Given the description of an element on the screen output the (x, y) to click on. 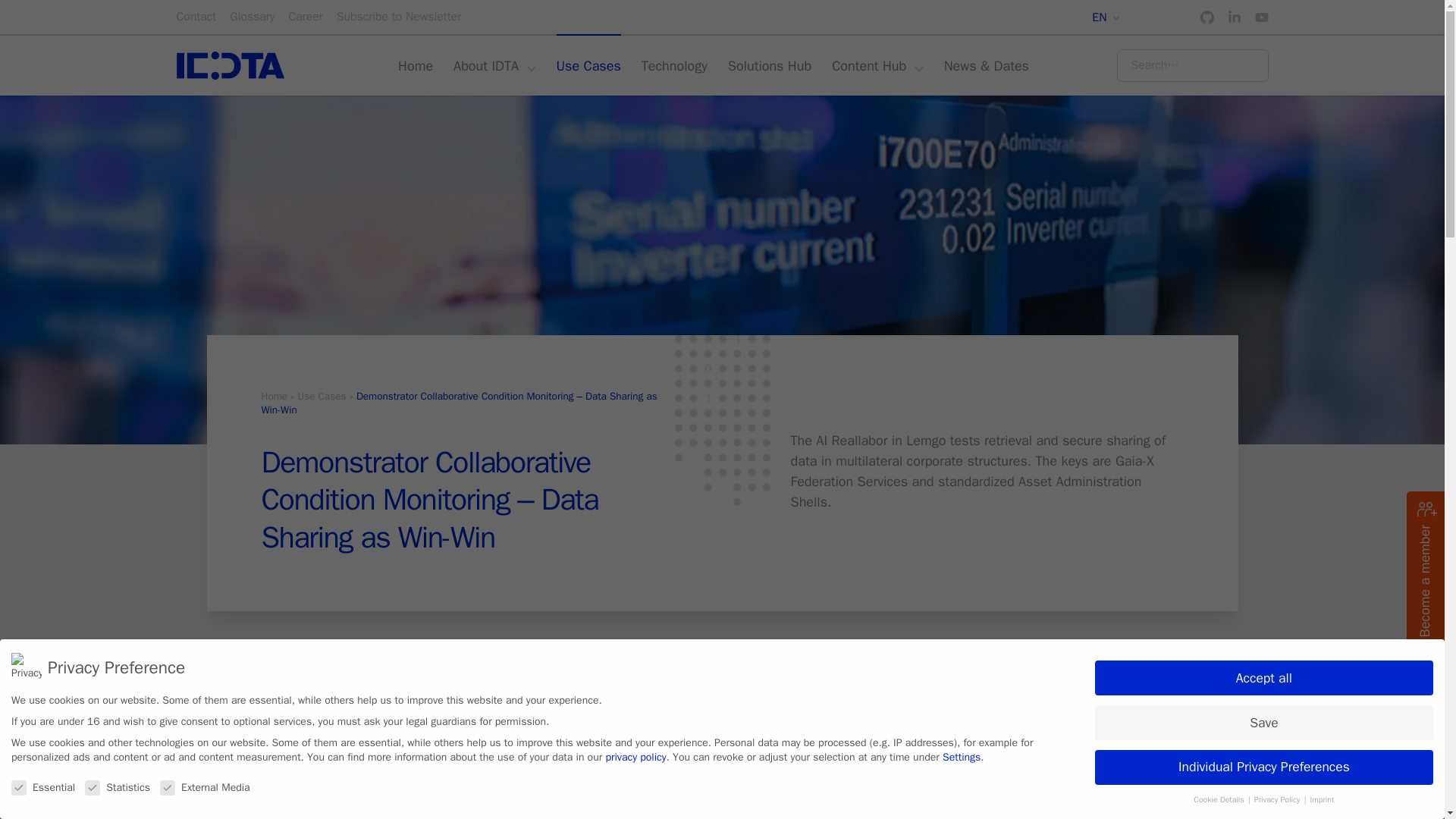
Visit us on Linkedin (1233, 17)
Use Cases (588, 64)
Glossary (252, 17)
Technology (674, 64)
Subscribe to Newsletter (398, 17)
Visit us on YouTube (1260, 17)
YouTube video player (448, 769)
About IDTA (493, 64)
Content Hub (877, 64)
Career (304, 17)
Click here to go back to frontpage (232, 64)
Click here to go back to frontpage (232, 64)
Solutions Hub (769, 64)
EN (1105, 18)
Visit us on GitHub (1205, 17)
